Given the description of an element on the screen output the (x, y) to click on. 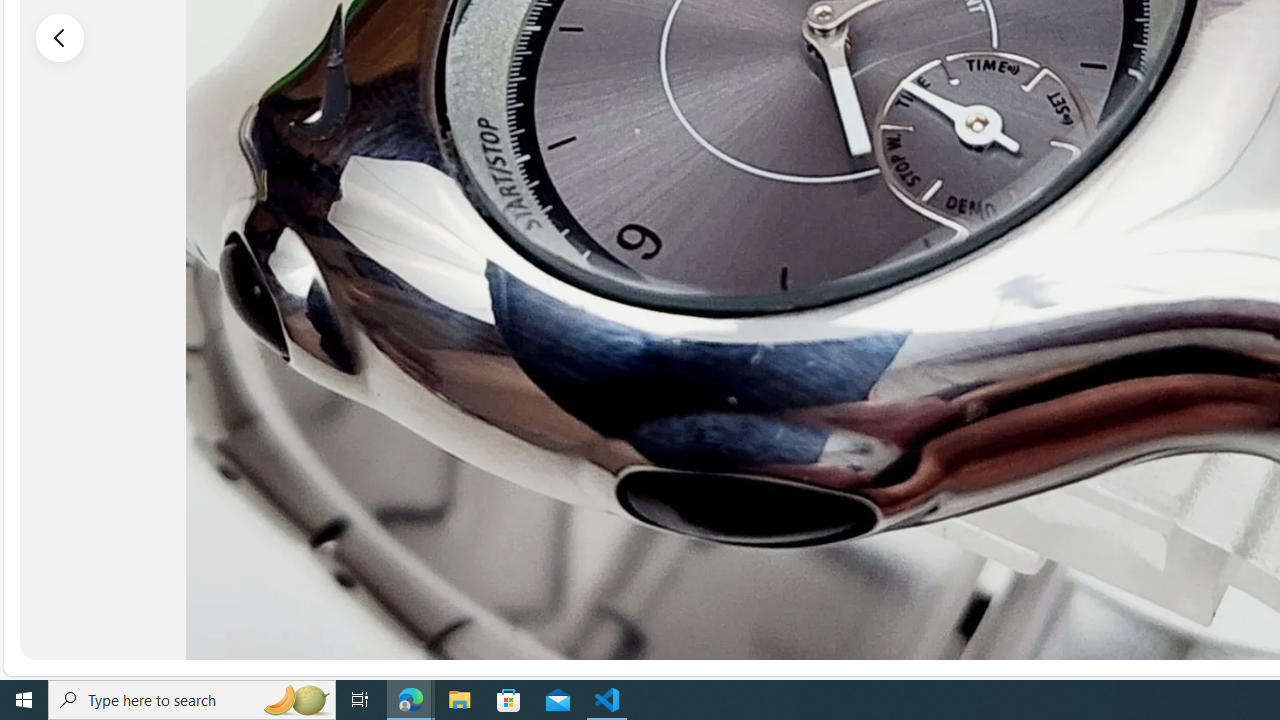
Previous image - Item images thumbnails (59, 37)
